Given the description of an element on the screen output the (x, y) to click on. 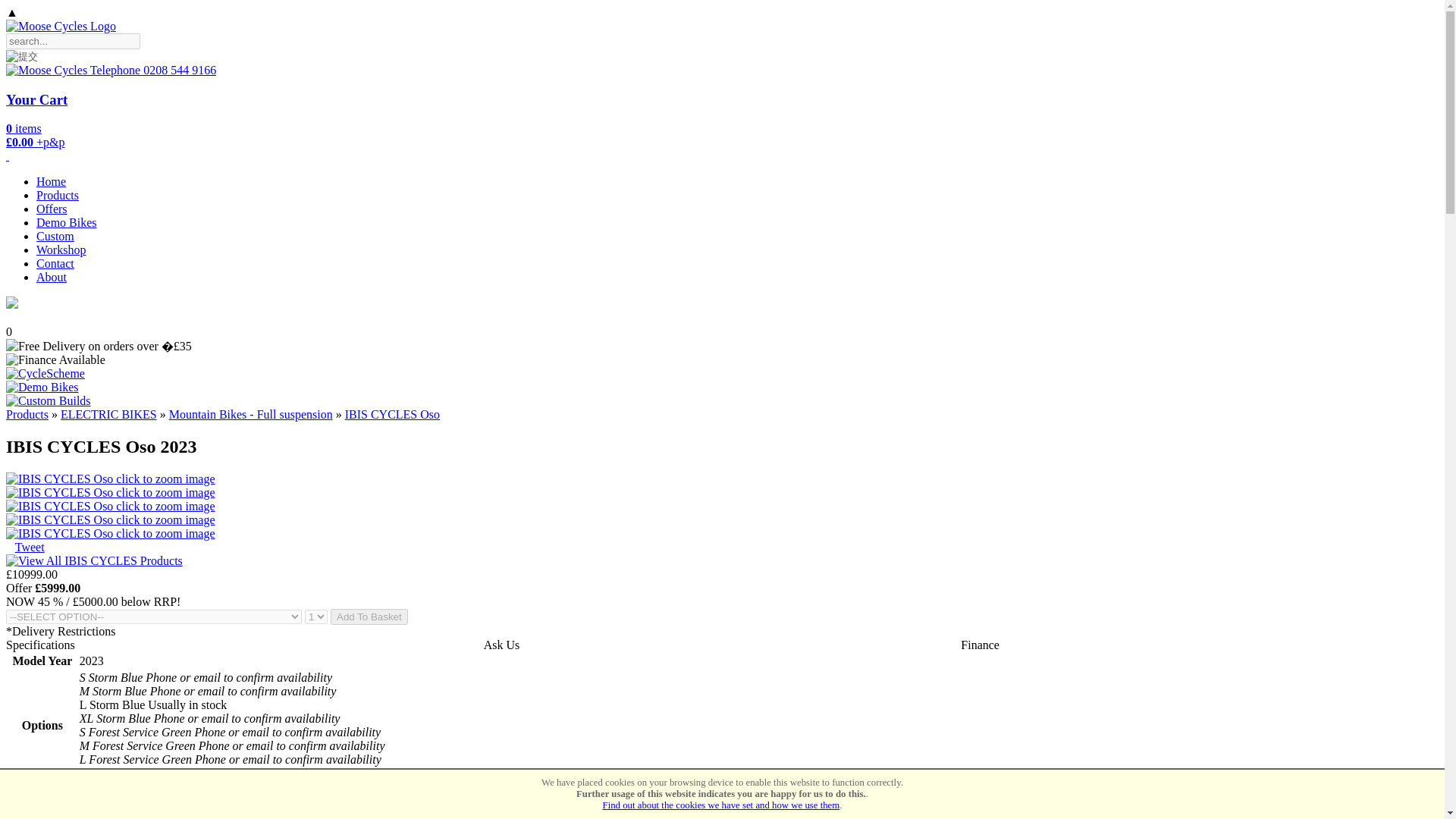
Workshop (60, 249)
Workshop (60, 249)
Home (50, 181)
IBIS CYCLES Oso (392, 413)
Products (26, 413)
Moose Cycles Telephone 0208 544 9166 (110, 69)
Add To Basket (368, 616)
About (51, 277)
About Us (51, 277)
Contact (55, 263)
Custom Build (55, 236)
Home (50, 181)
Contact Us (55, 263)
Checkout (35, 99)
Browse Catalogue (57, 195)
